Given the description of an element on the screen output the (x, y) to click on. 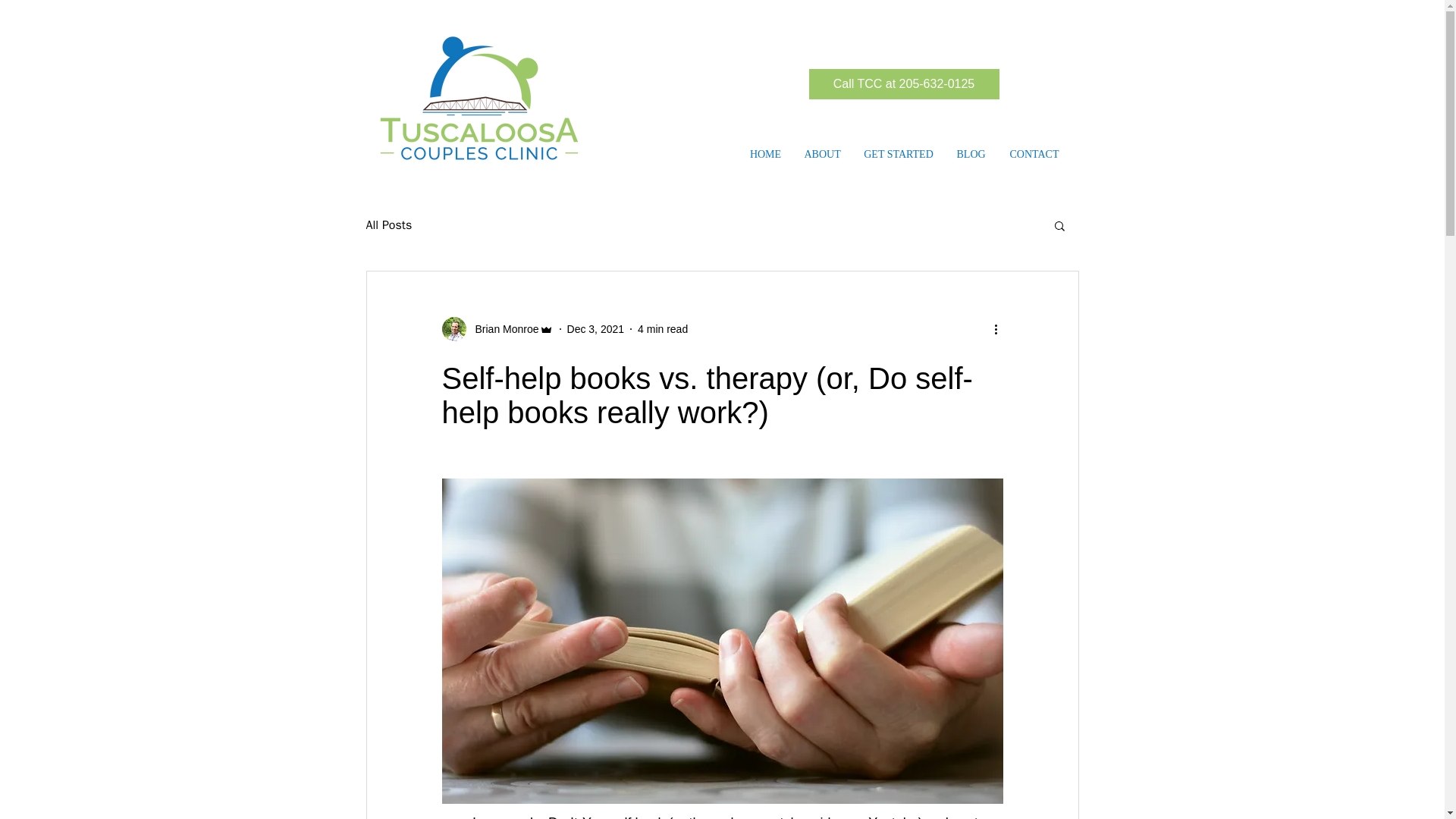
CONTACT (1033, 154)
4 min read (662, 328)
Brian Monroe (501, 329)
Call TCC at 205-632-0125 (903, 83)
Dec 3, 2021 (595, 328)
HOME (765, 154)
All Posts (388, 224)
GET STARTED (897, 154)
BLOG (969, 154)
Brian Monroe (497, 328)
